Given the description of an element on the screen output the (x, y) to click on. 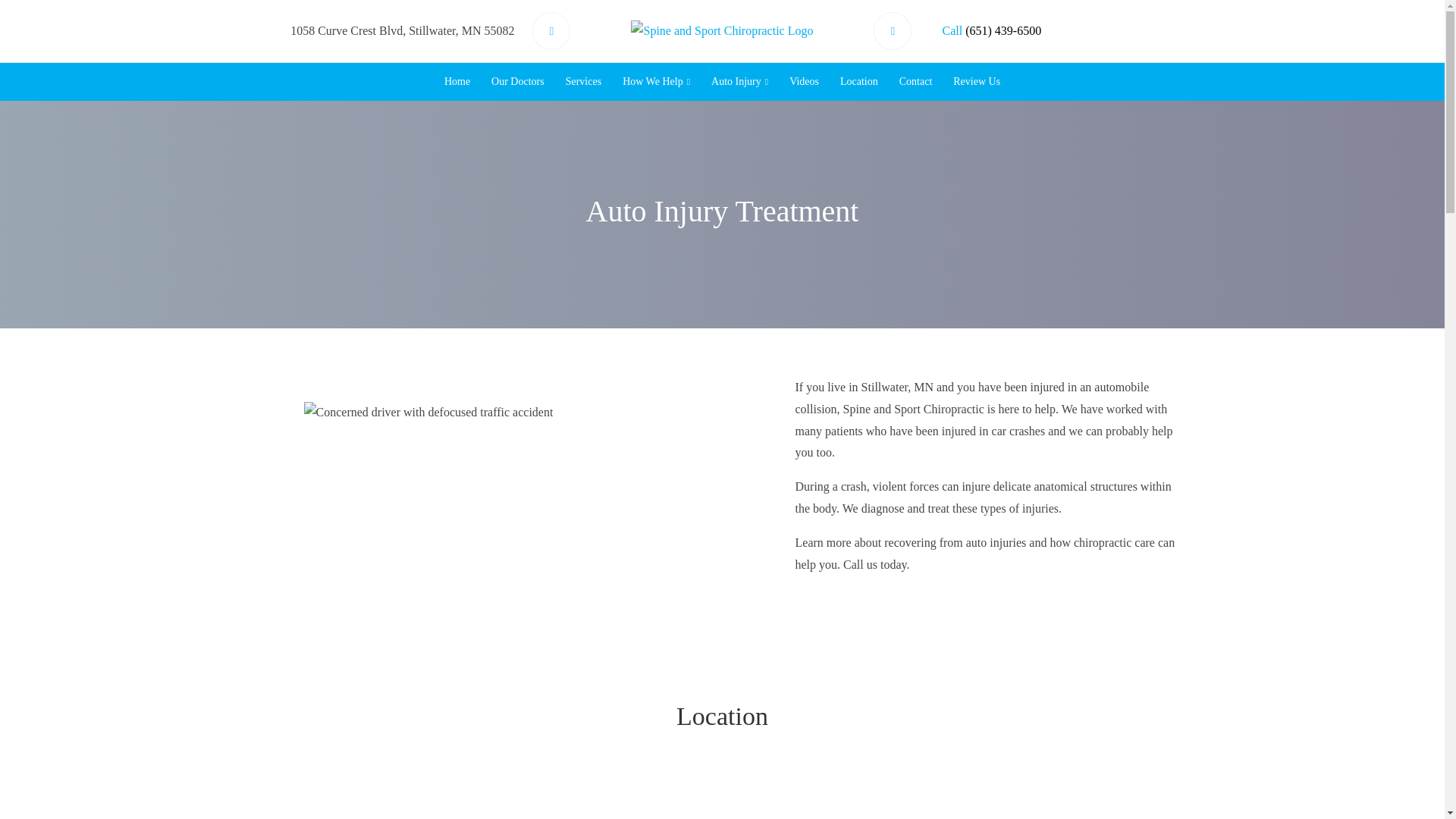
Our Doctors (517, 81)
Videos (804, 81)
Home (457, 81)
Auto Injury (739, 81)
How We Help (655, 81)
Services (583, 81)
Location (858, 81)
